Given the description of an element on the screen output the (x, y) to click on. 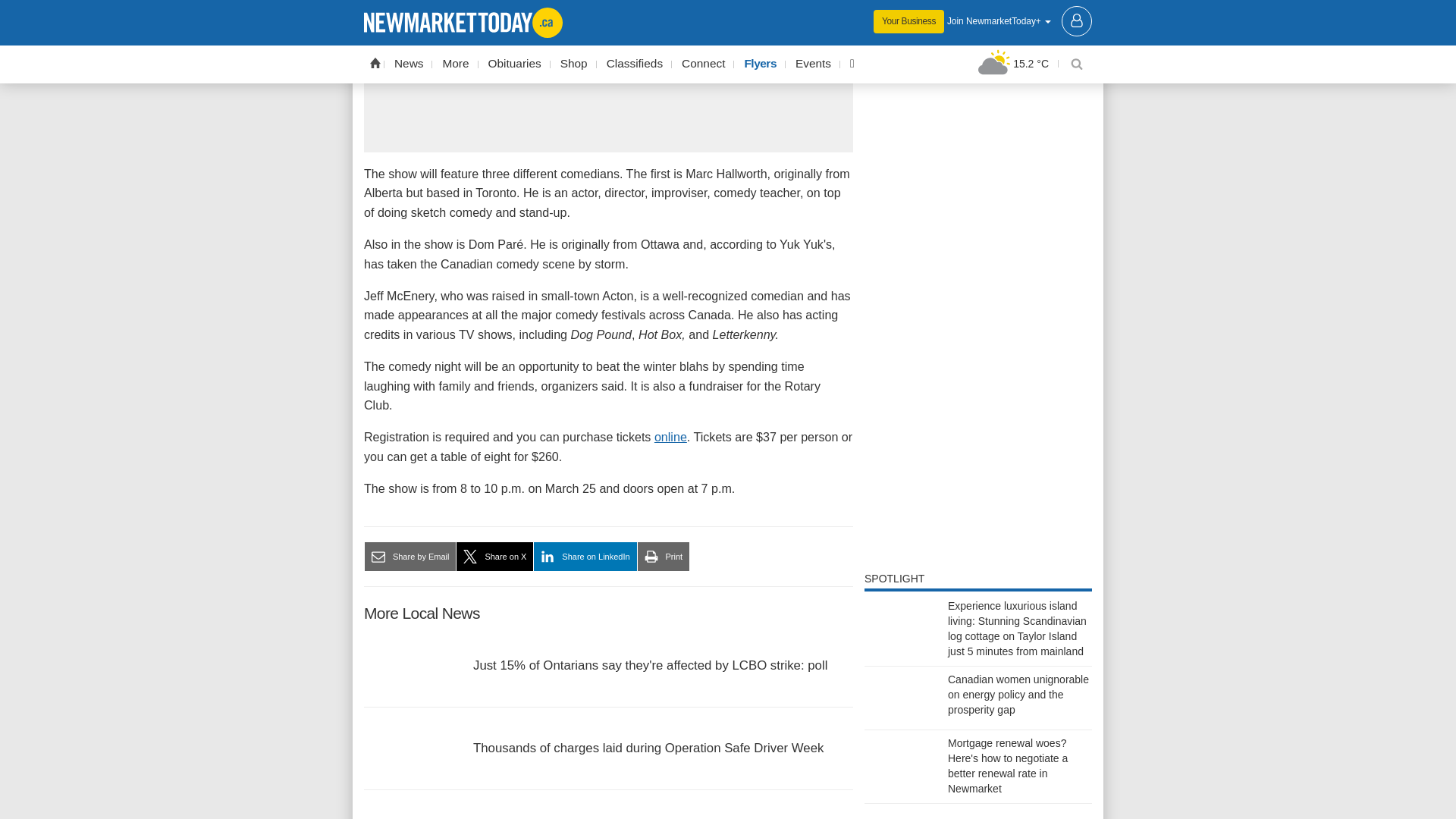
3rd party ad content (608, 74)
3rd party ad content (978, 21)
